Given the description of an element on the screen output the (x, y) to click on. 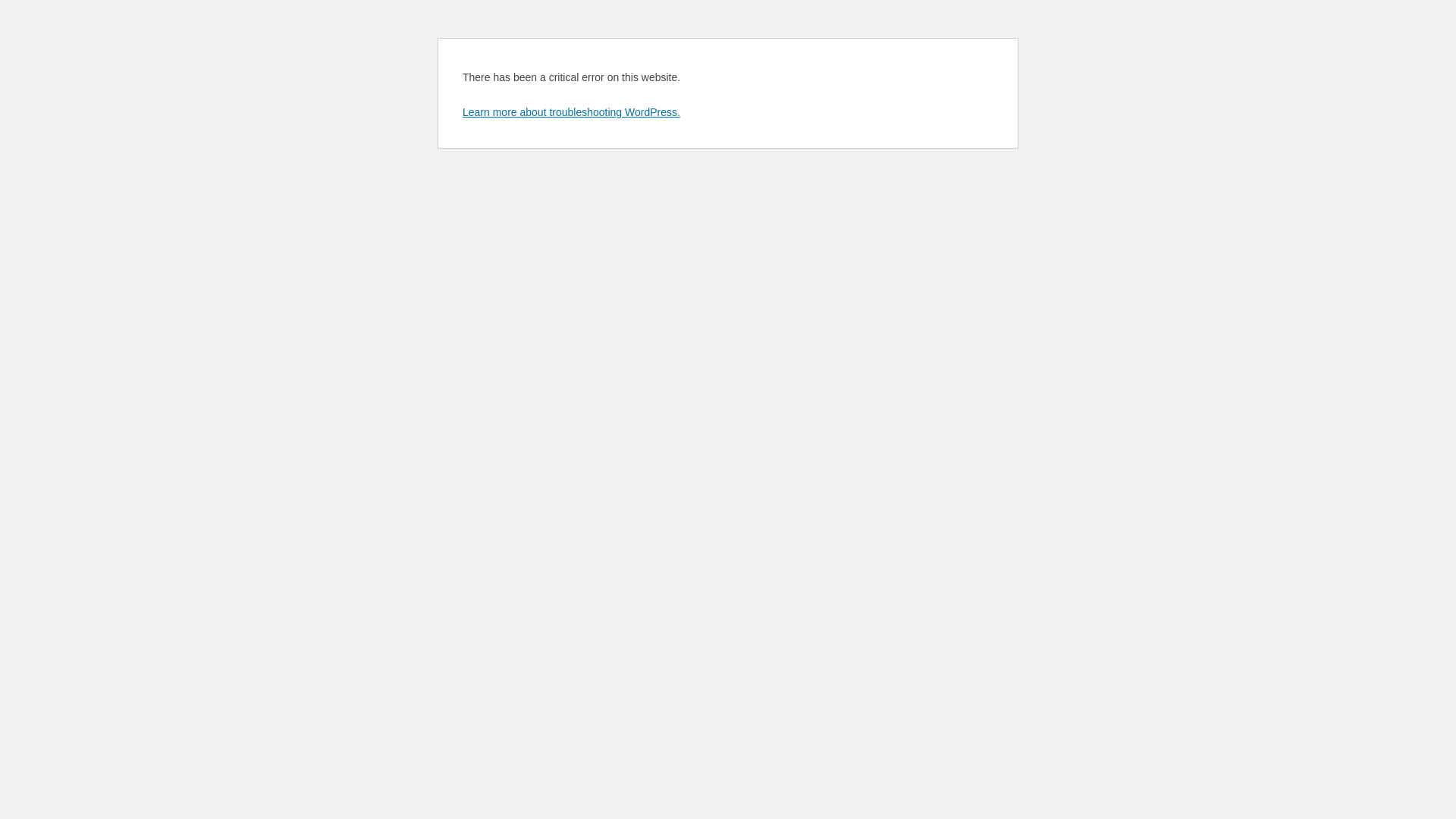
Learn more about troubleshooting WordPress. Element type: text (571, 112)
